Given the description of an element on the screen output the (x, y) to click on. 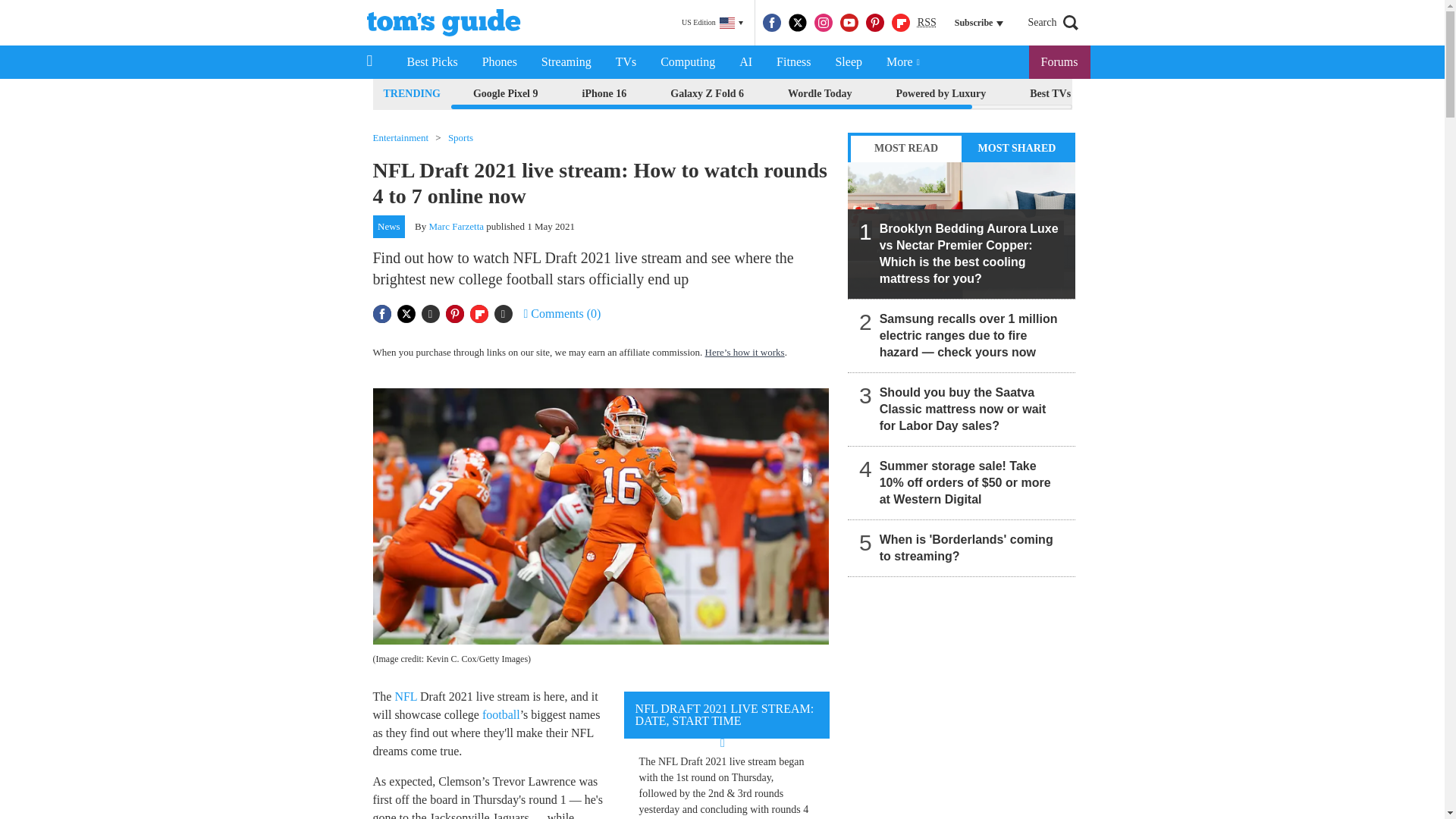
US Edition (712, 22)
RSS (926, 22)
Sleep (848, 61)
AI (745, 61)
Really Simple Syndication (926, 21)
Computing (686, 61)
TVs (626, 61)
Fitness (793, 61)
Streaming (566, 61)
